Given the description of an element on the screen output the (x, y) to click on. 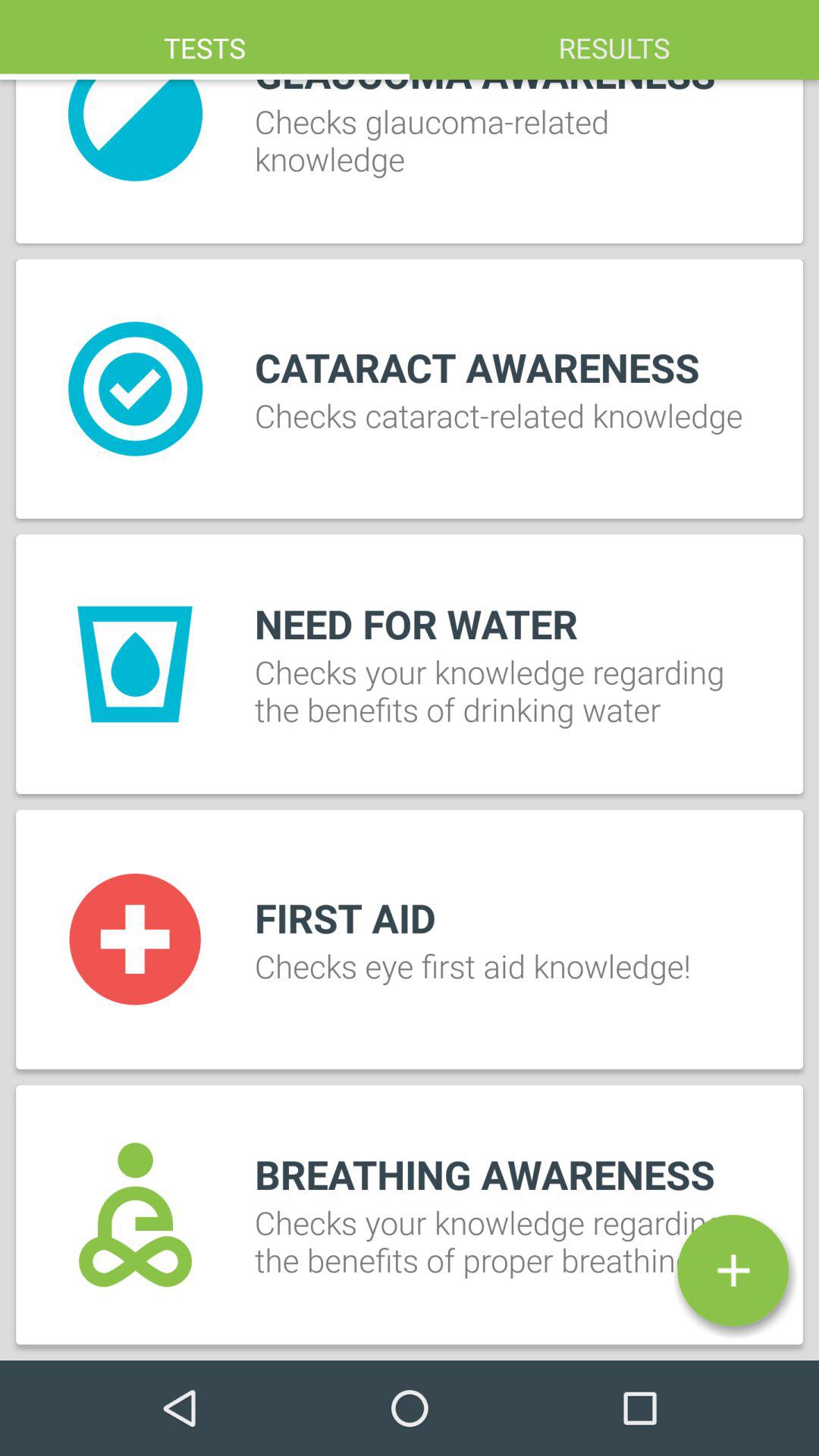
turn on tests item (204, 39)
